Given the description of an element on the screen output the (x, y) to click on. 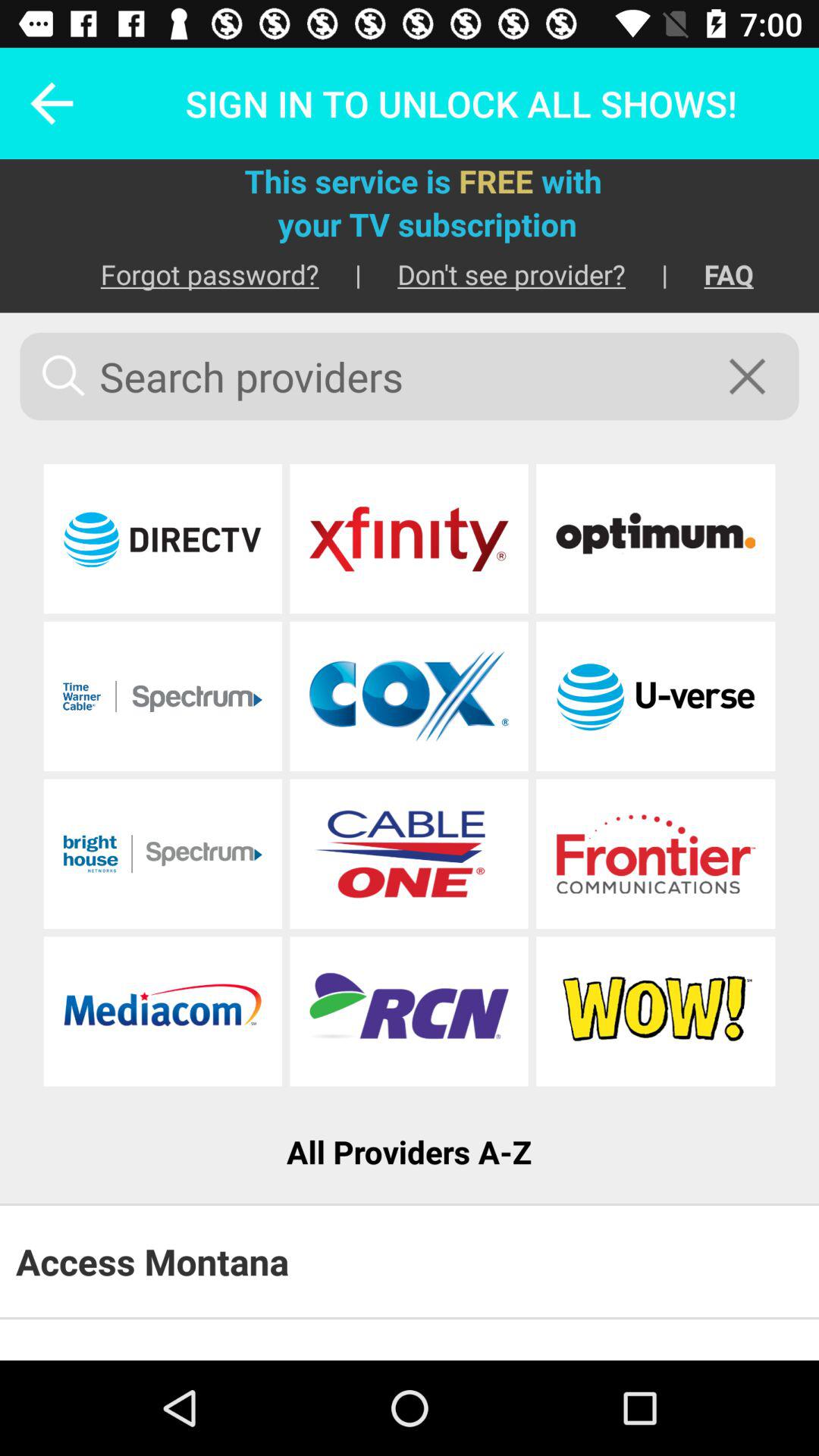
click link (408, 538)
